Given the description of an element on the screen output the (x, y) to click on. 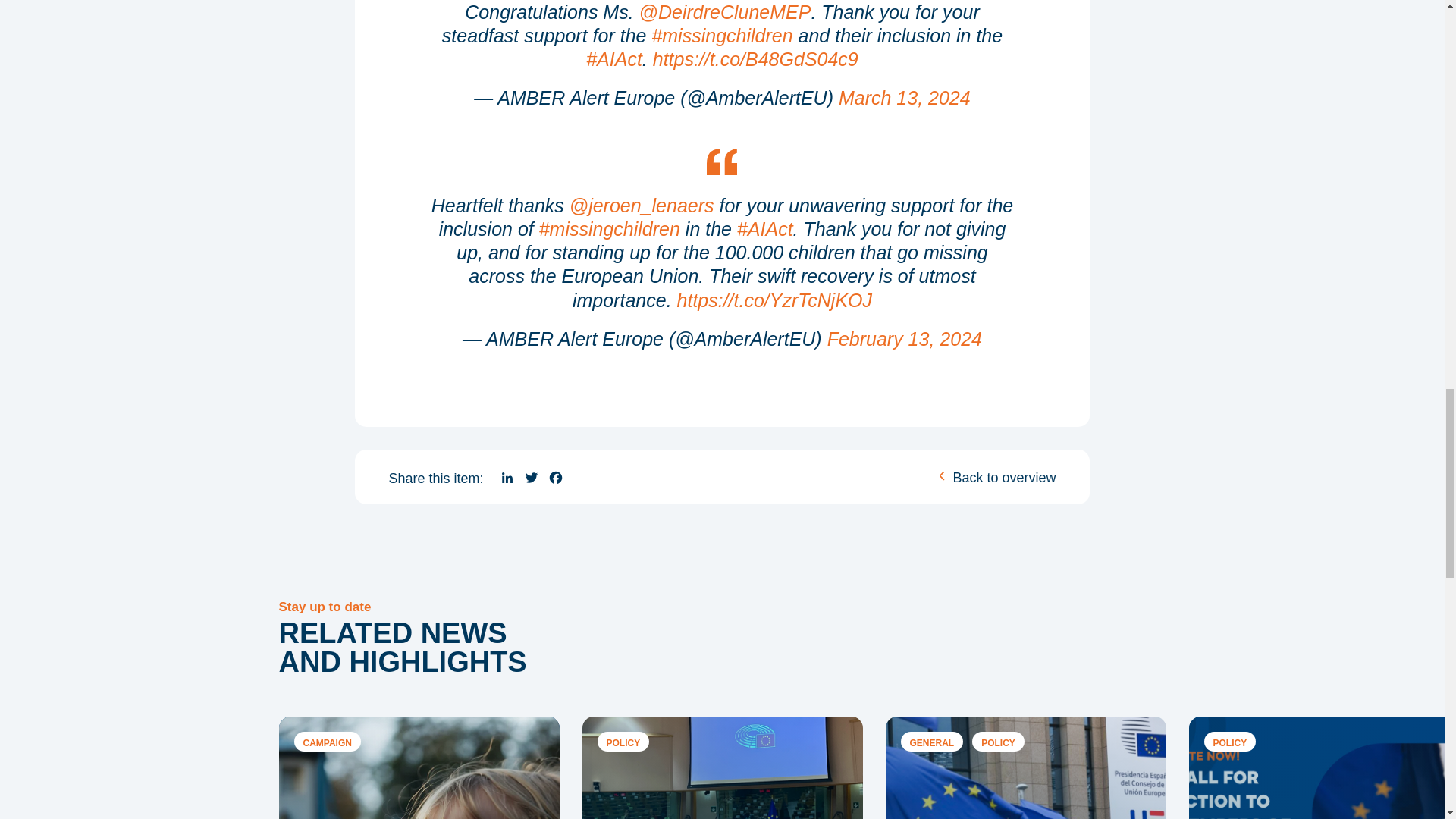
Twitter (531, 477)
LinkedIn (507, 477)
Facebook (555, 477)
